Given the description of an element on the screen output the (x, y) to click on. 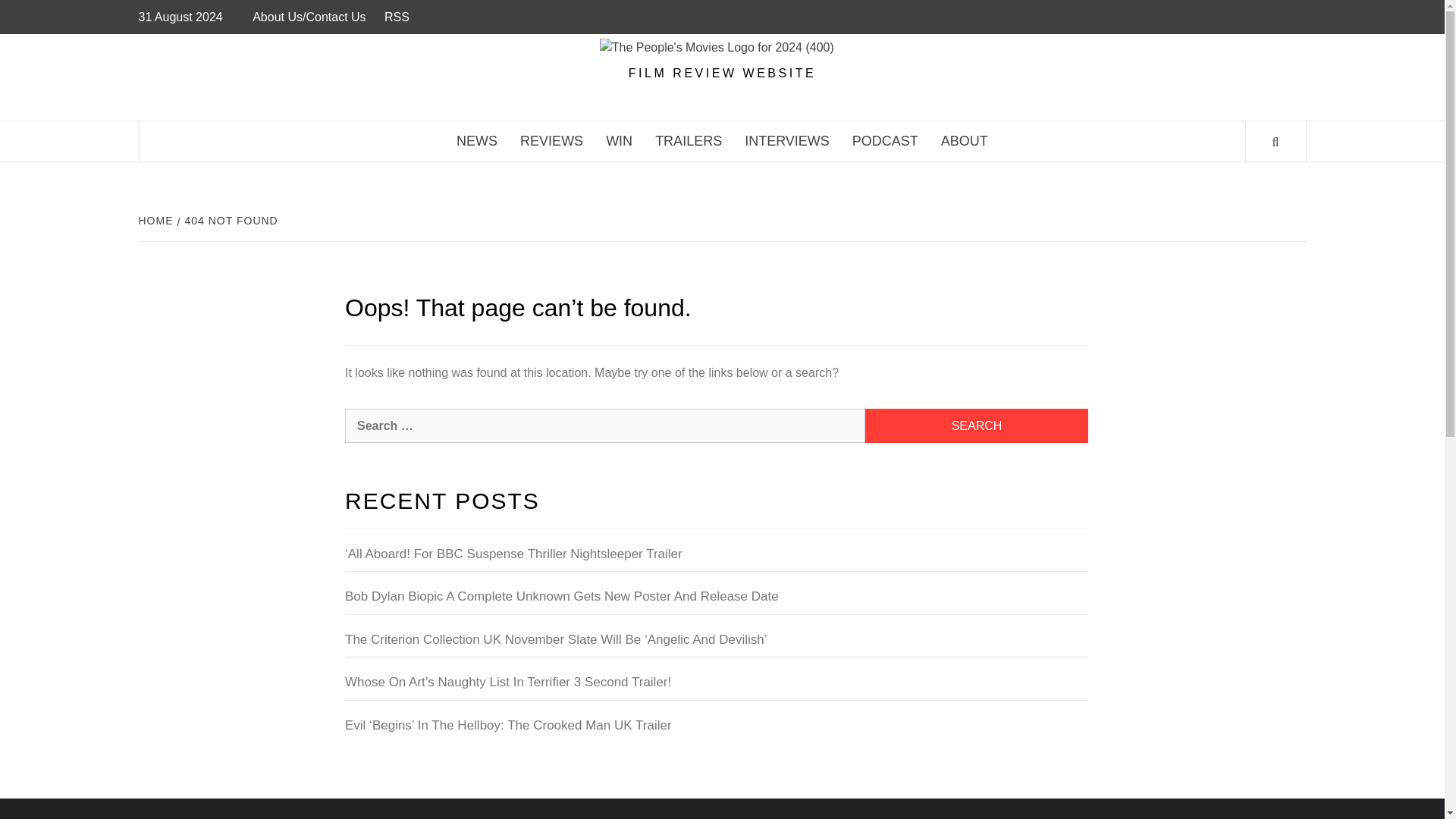
RSS (396, 17)
Search (975, 425)
404 NOT FOUND (229, 220)
Search (975, 425)
HOME (157, 220)
INTERVIEWS (787, 141)
ABOUT (964, 141)
PODCAST (885, 141)
NEWS (476, 141)
WIN (618, 141)
